Given the description of an element on the screen output the (x, y) to click on. 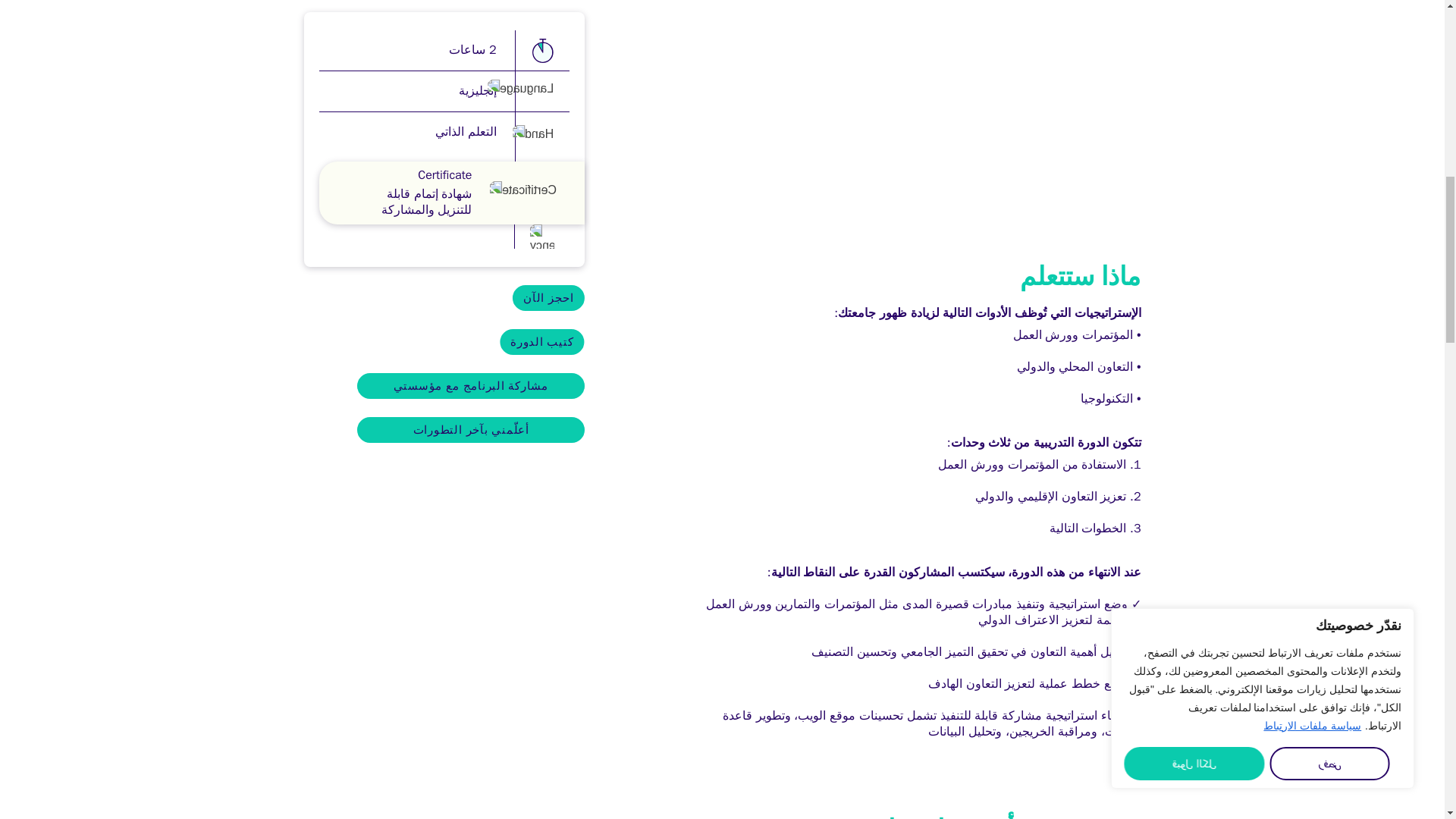
YouTube video player (928, 101)
